Given the description of an element on the screen output the (x, y) to click on. 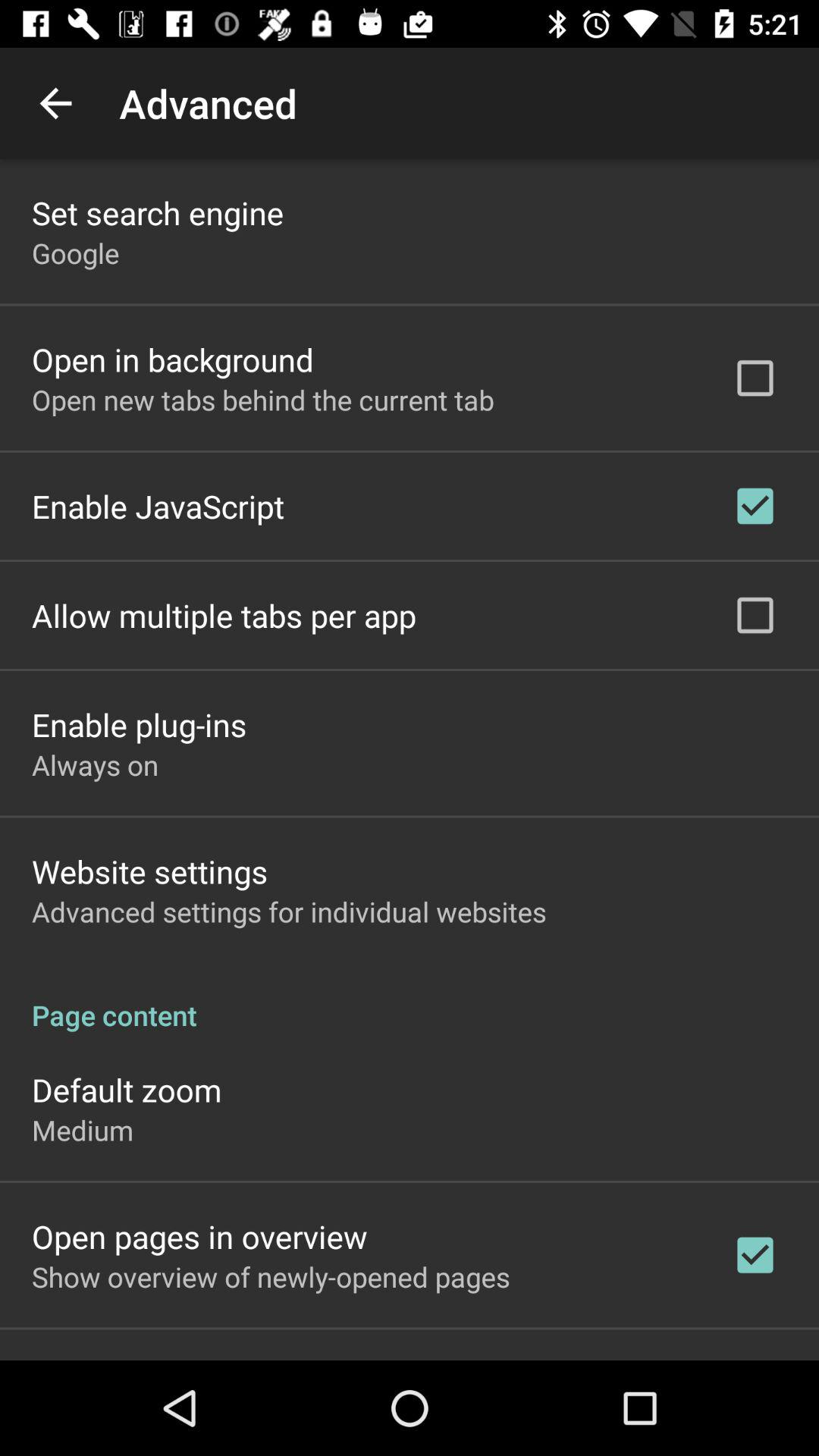
click the medium item (82, 1129)
